Given the description of an element on the screen output the (x, y) to click on. 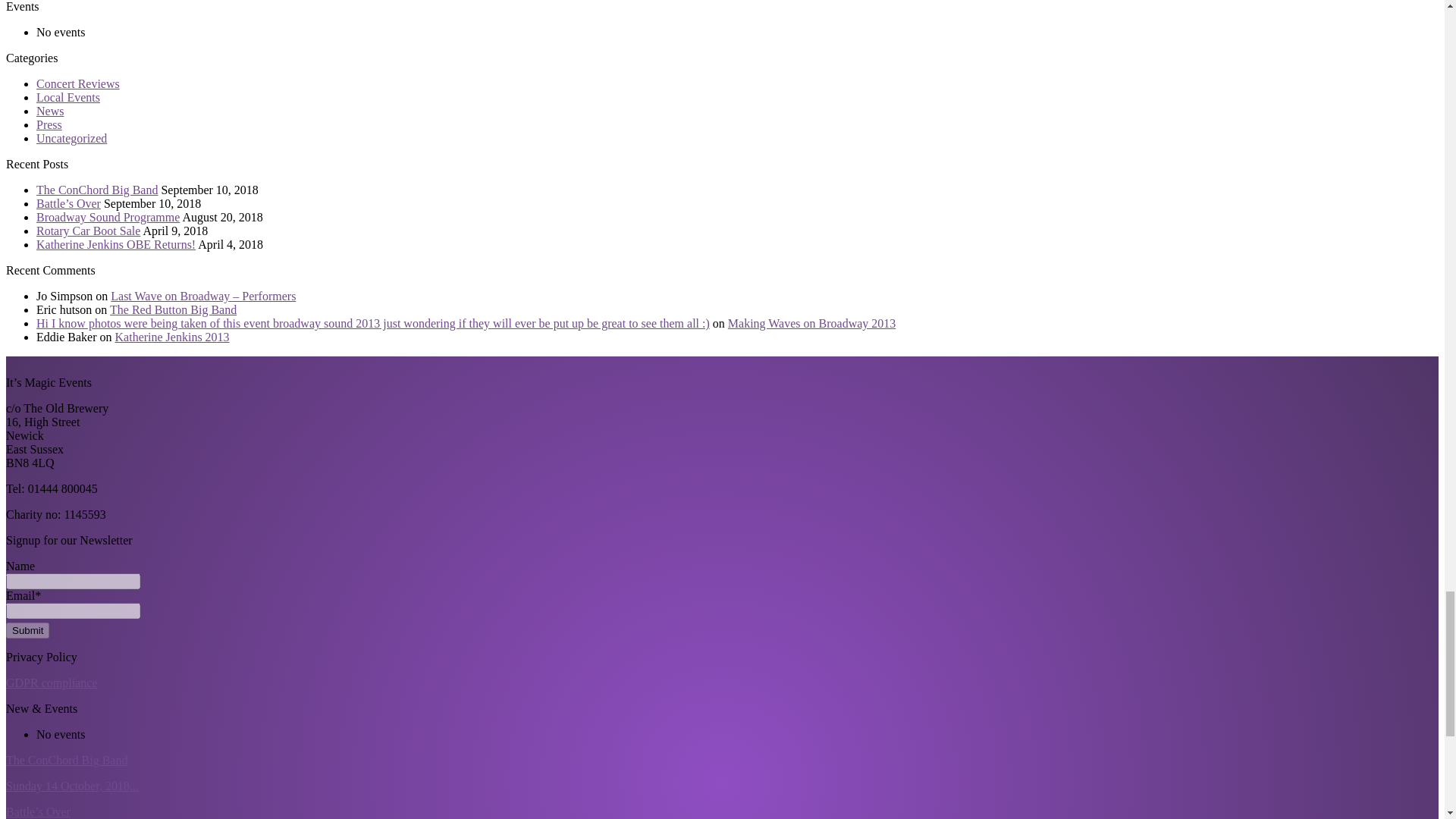
Submit (27, 630)
